Given the description of an element on the screen output the (x, y) to click on. 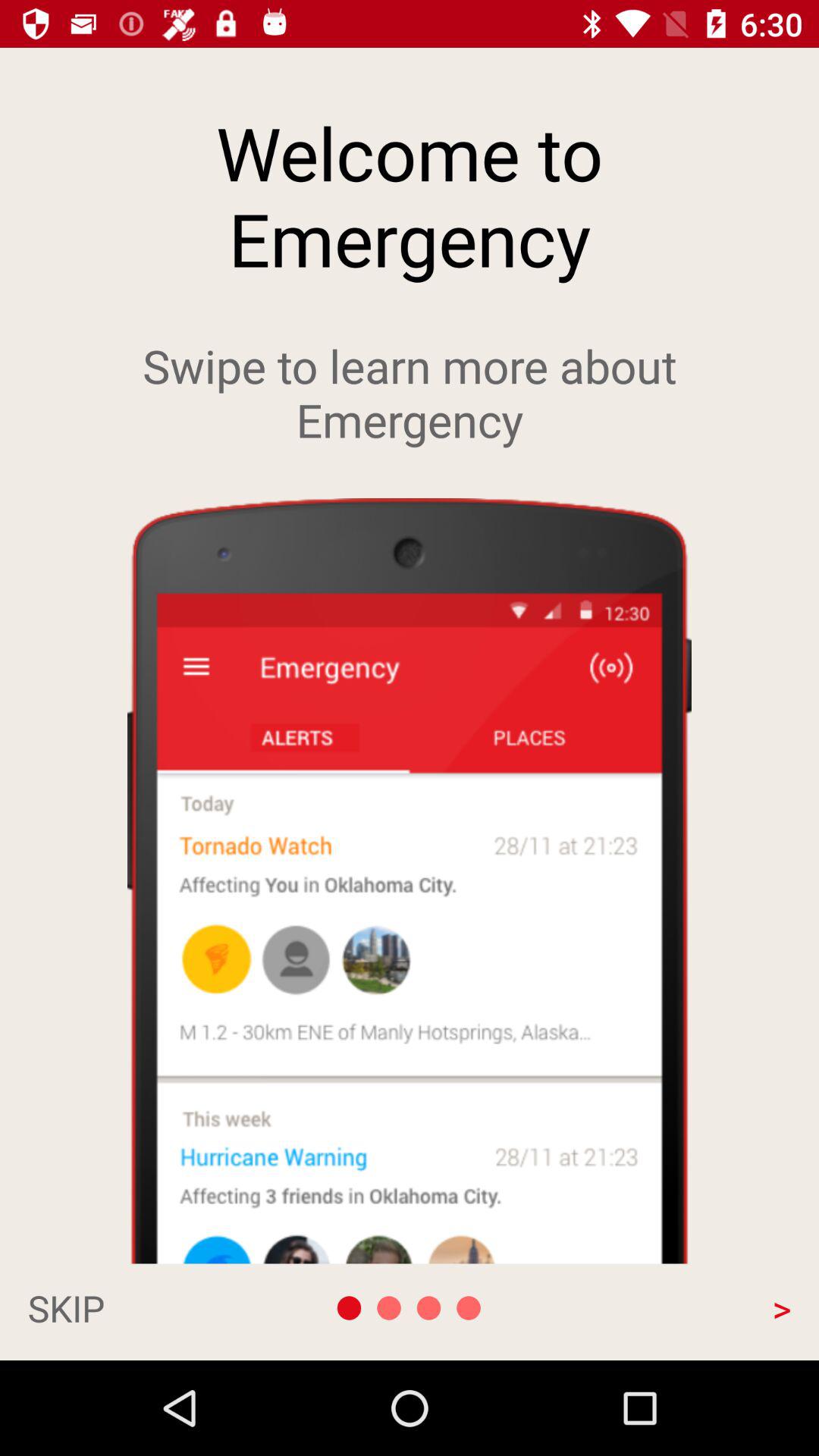
click icon at the bottom left corner (141, 1307)
